Given the description of an element on the screen output the (x, y) to click on. 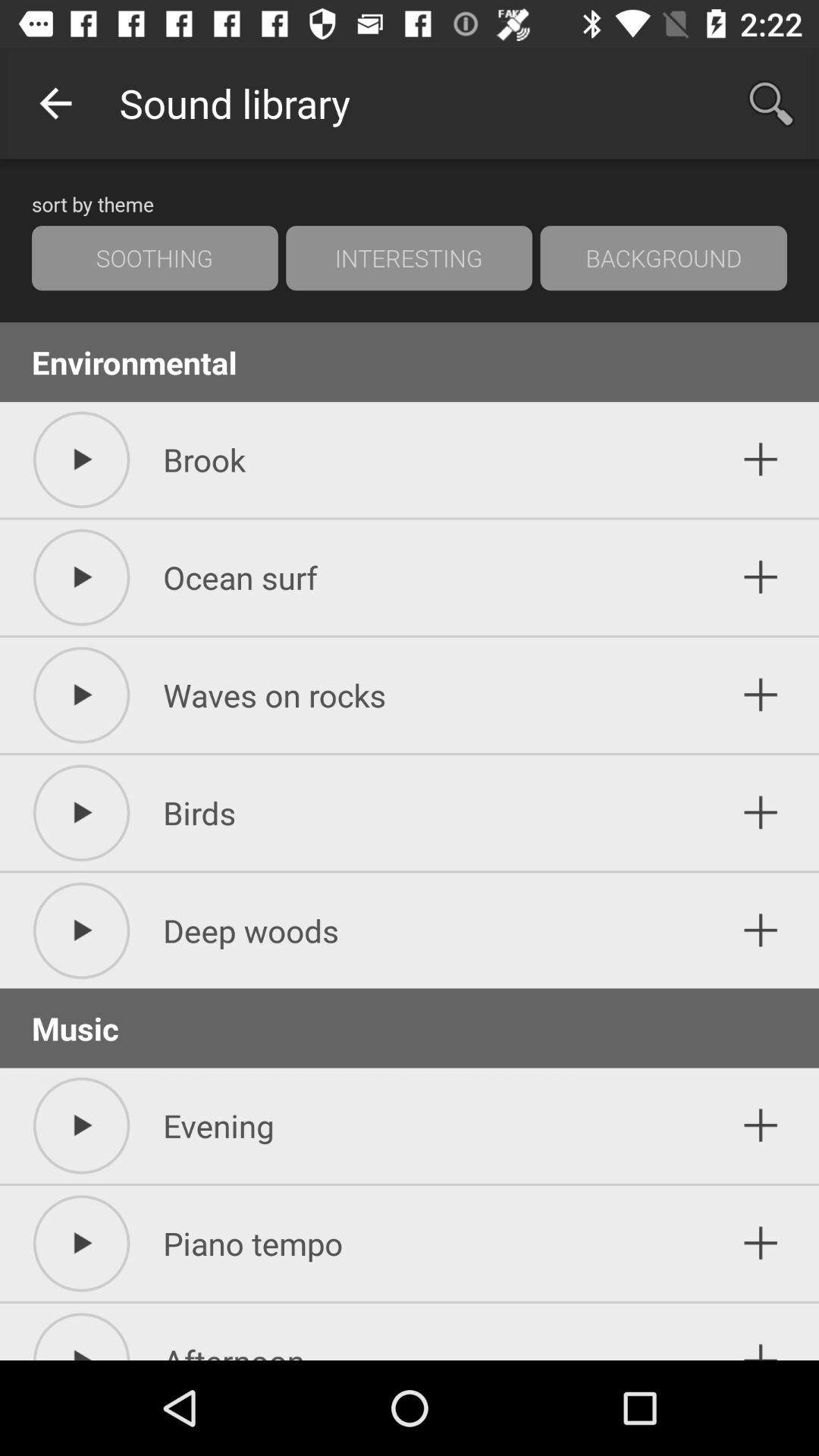
toggle to more (761, 930)
